Given the description of an element on the screen output the (x, y) to click on. 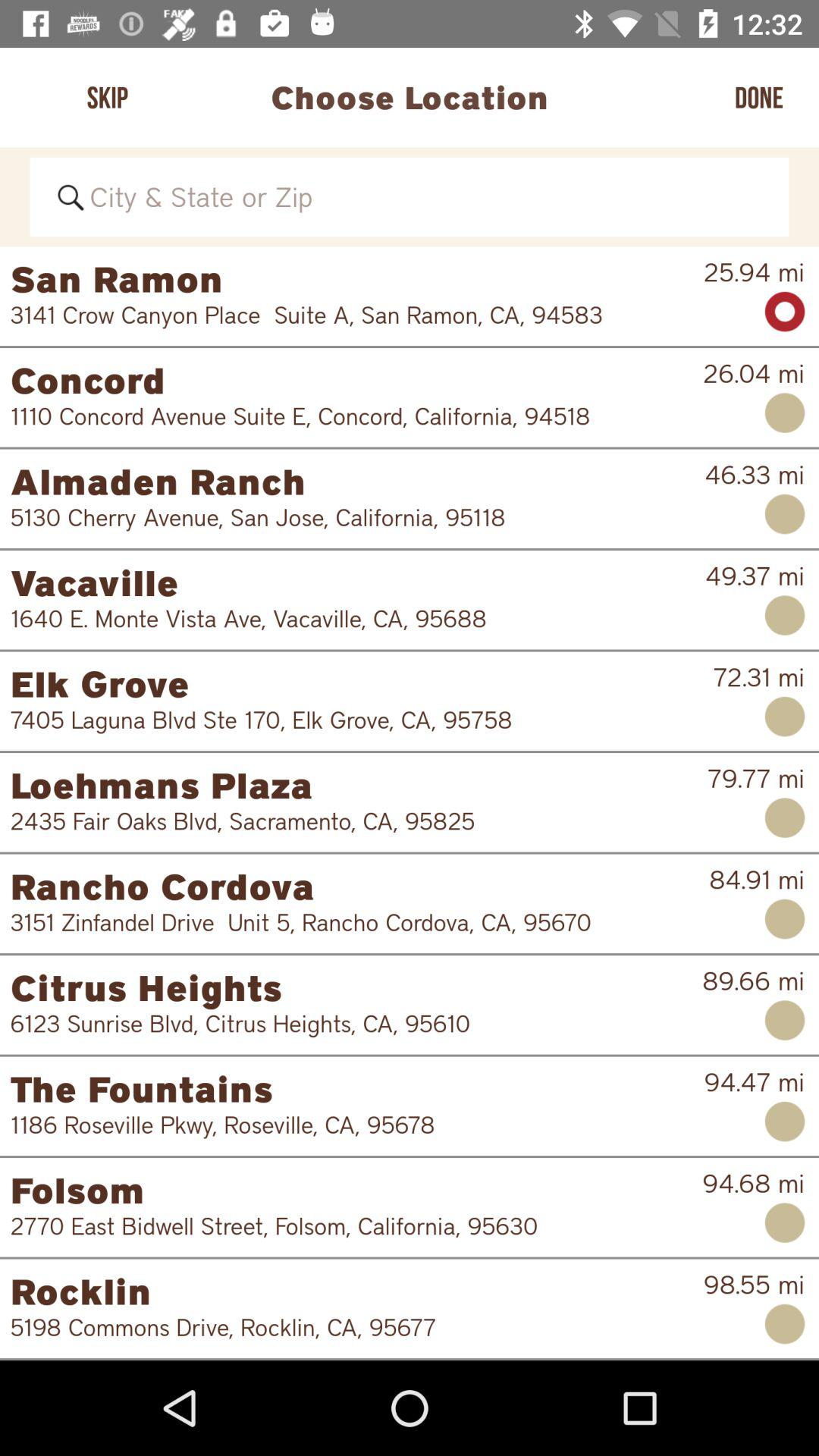
open icon next to 94.68 mi icon (346, 1226)
